Given the description of an element on the screen output the (x, y) to click on. 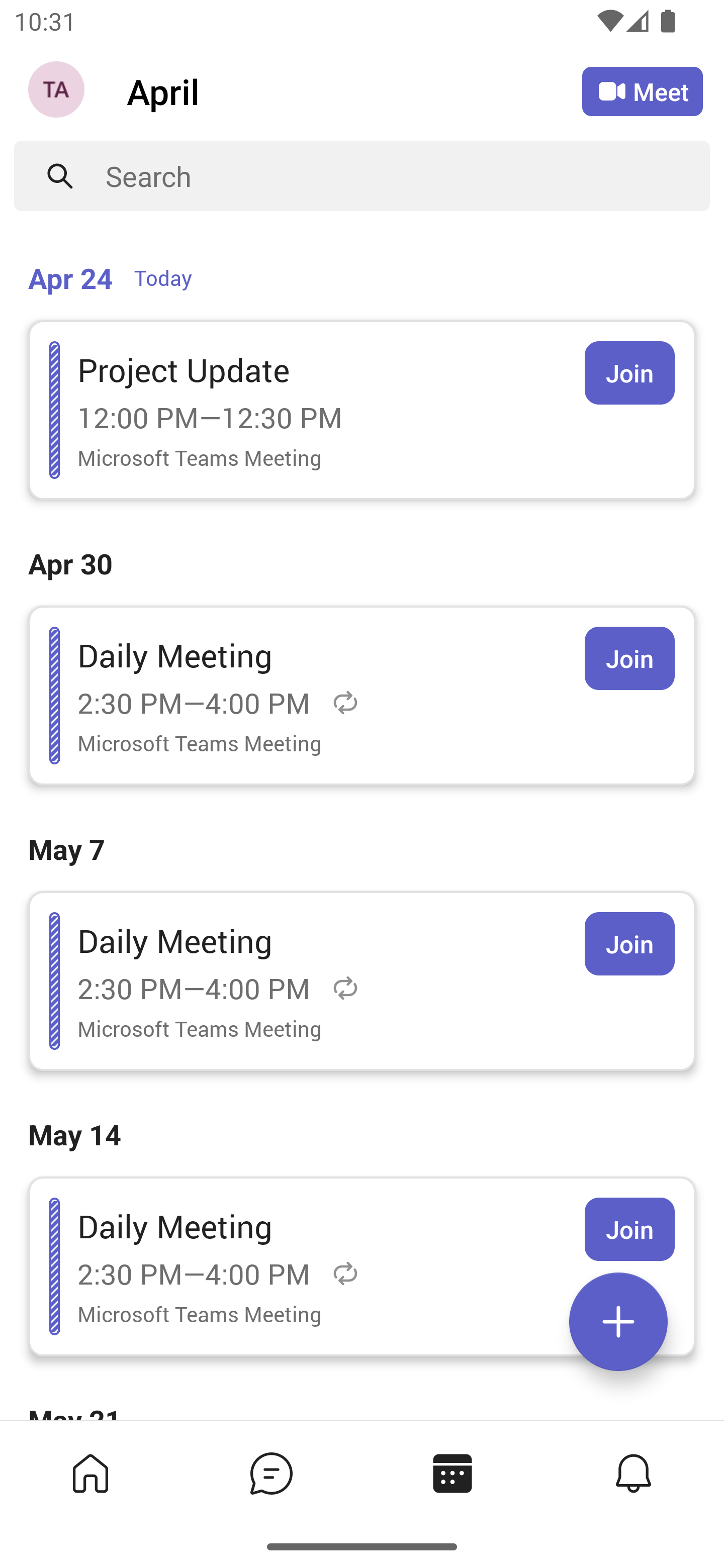
Navigation (58, 91)
Meet Meet now or join with an ID (642, 91)
April April Calendar Agenda View (354, 90)
Search (407, 176)
Join (629, 372)
Join (629, 658)
Join (629, 943)
Join (629, 1228)
Expand meetings menu (618, 1321)
Home tab,1 of 4, not selected (90, 1472)
Chat tab,2 of 4, not selected (271, 1472)
Calendar tab, 3 of 4 (452, 1472)
Activity tab,4 of 4, not selected (633, 1472)
